Given the description of an element on the screen output the (x, y) to click on. 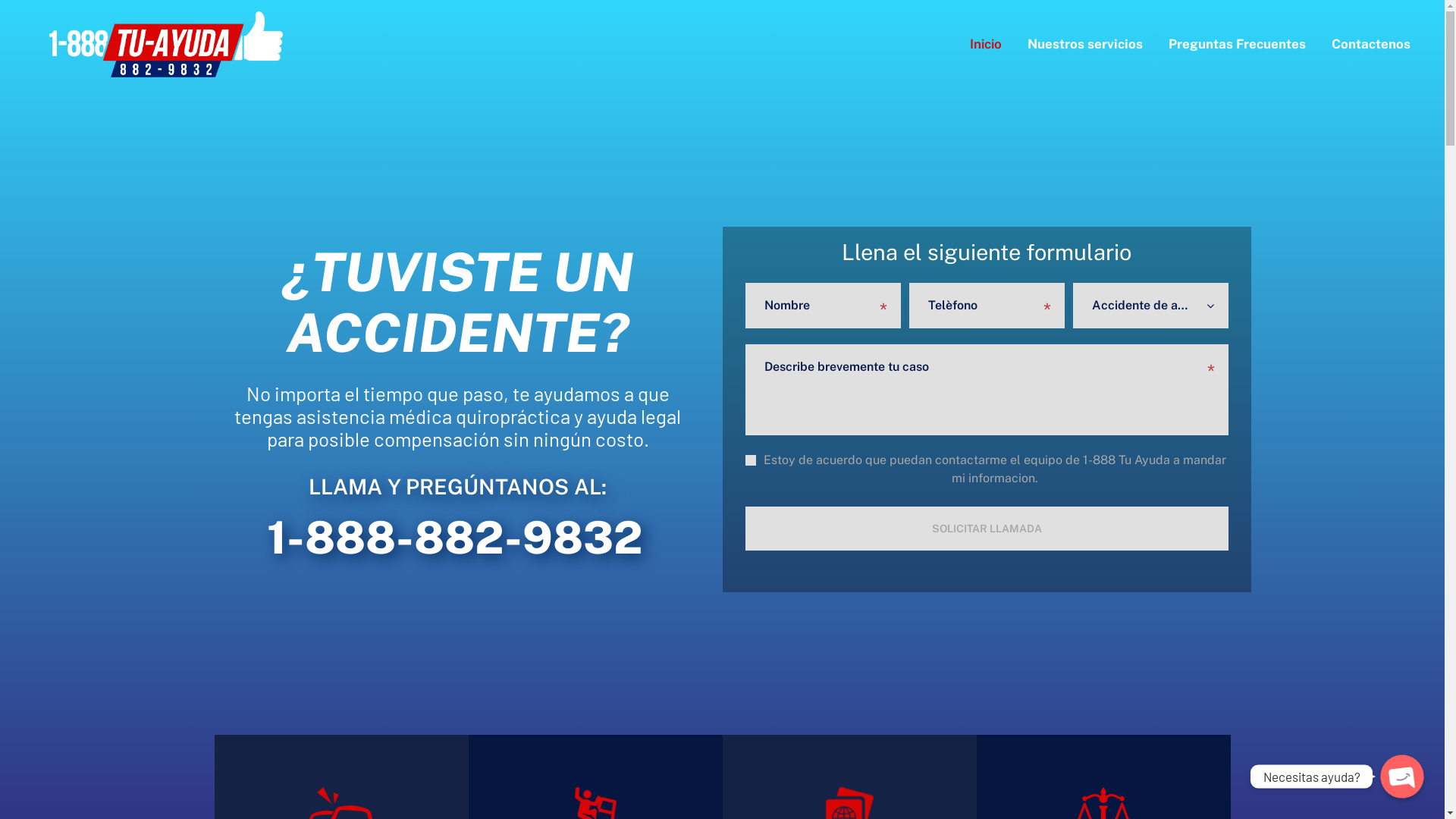
1-888-882-9832 Element type: text (454, 536)
Inicio Element type: text (985, 44)
Contactenos Element type: text (1370, 44)
Solicitar Llamada Element type: text (986, 528)
Nuestros servicios Element type: text (1084, 44)
Preguntas Frecuentes Element type: text (1236, 44)
